Given the description of an element on the screen output the (x, y) to click on. 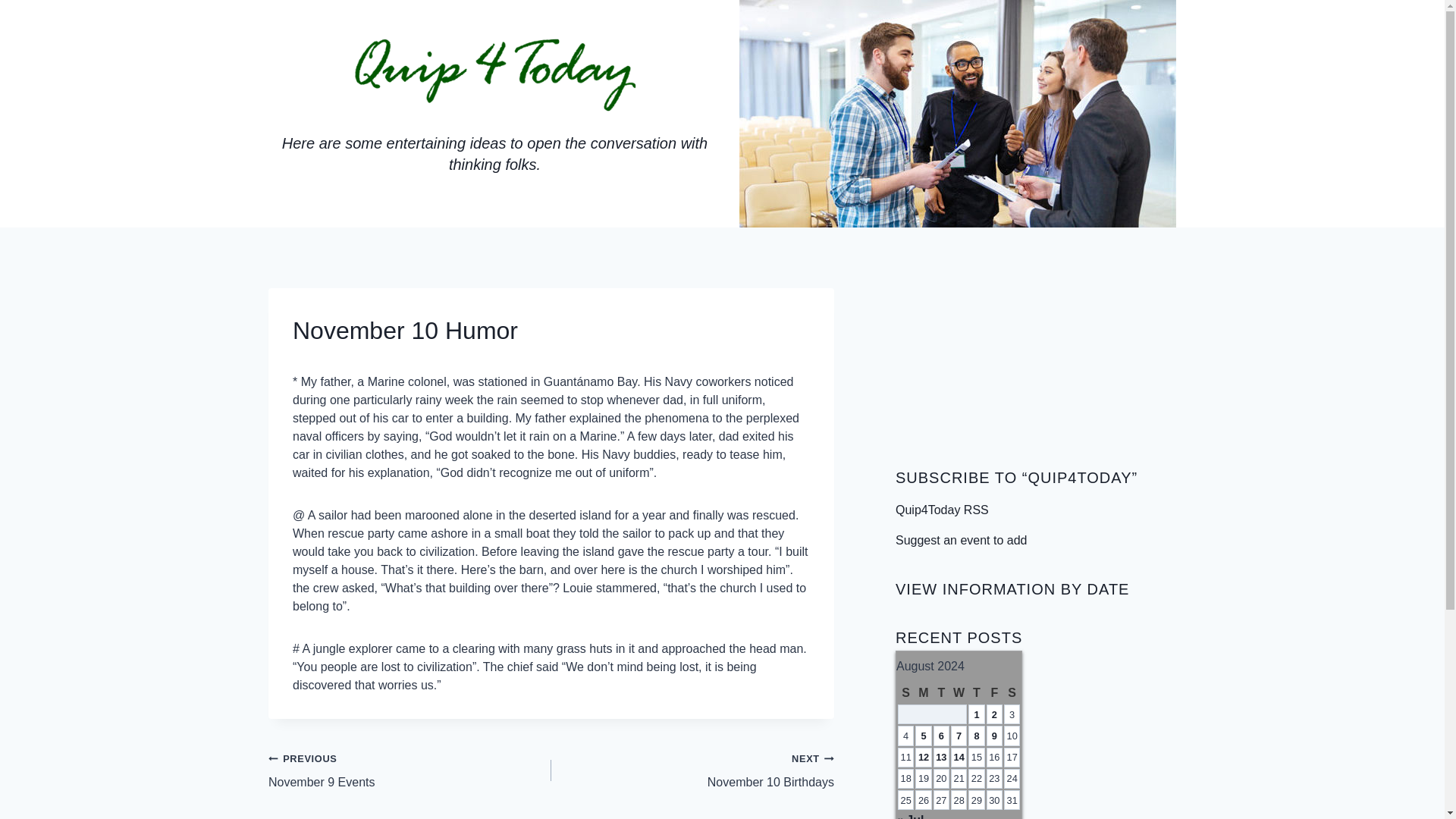
Quip4Today RSS (941, 509)
14 (958, 756)
12 (692, 770)
13 (923, 756)
Suggest an event to add (941, 756)
